Given the description of an element on the screen output the (x, y) to click on. 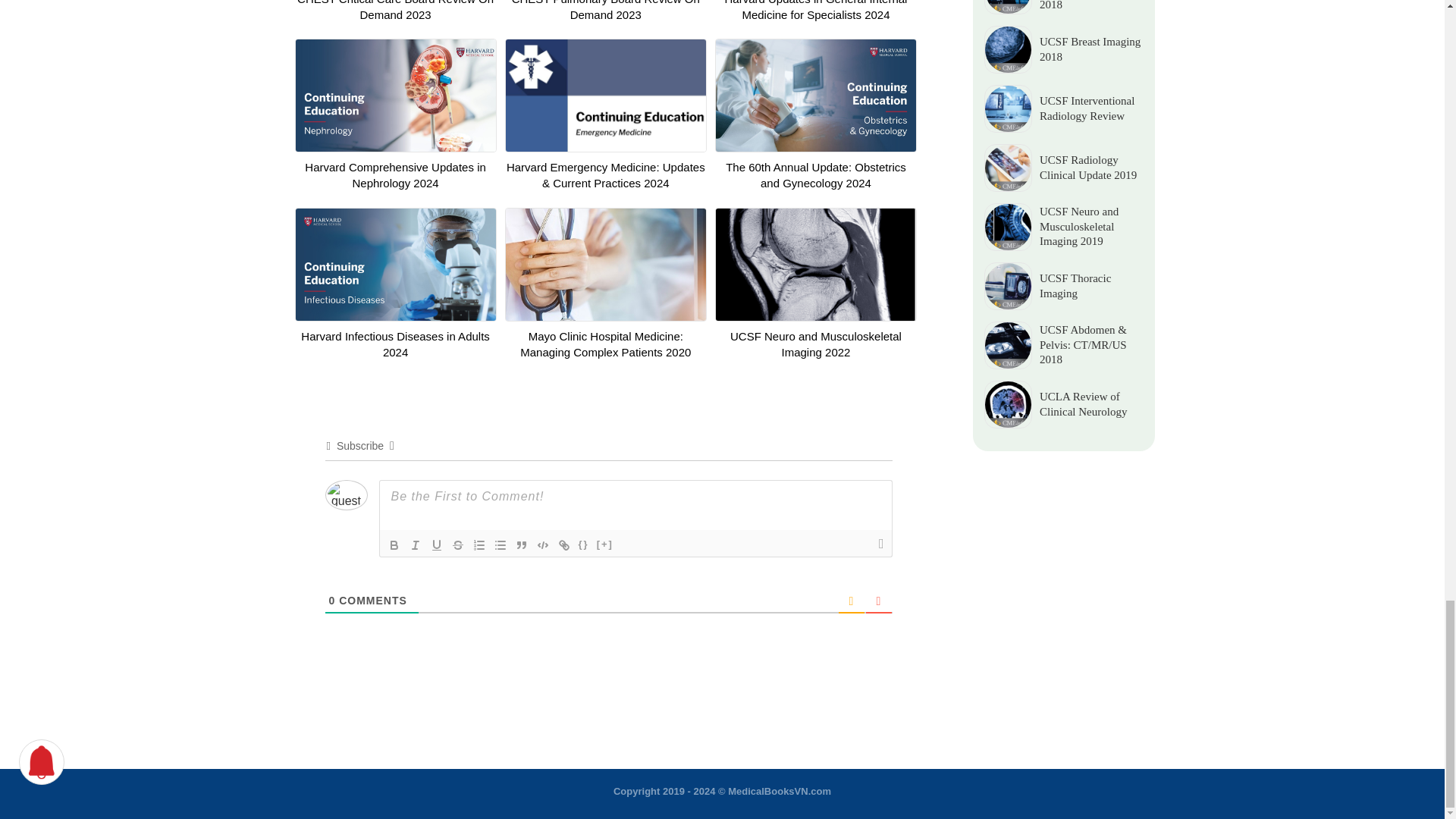
CHEST Pulmonary Board Review On Demand 2023 (606, 10)
CHEST Critical Care Board Review On Demand 2023 (395, 10)
Harvard Comprehensive Updates in Nephrology 2024 (394, 174)
